Given the description of an element on the screen output the (x, y) to click on. 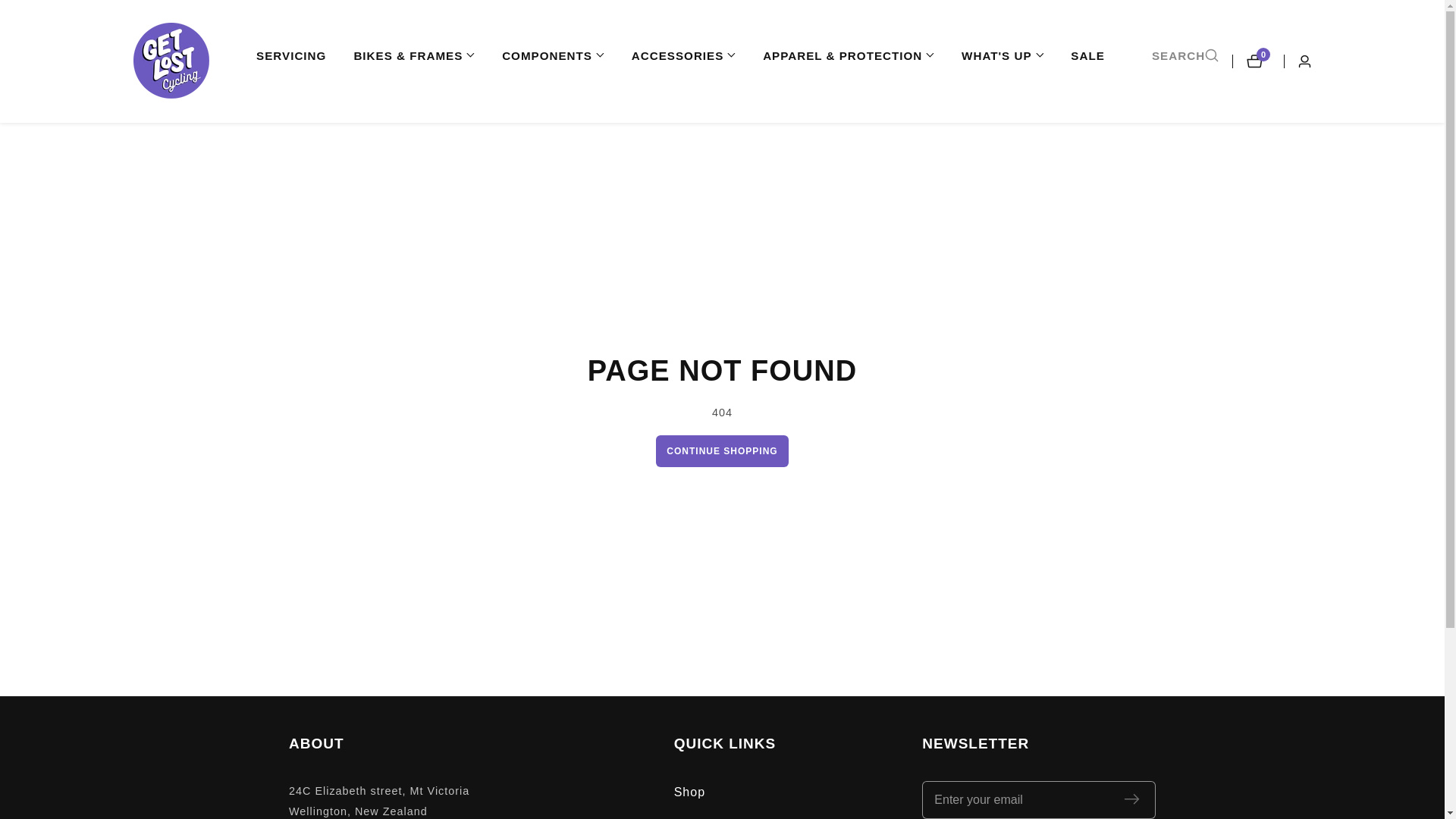
SERVICING (291, 55)
SKIP TO CONTENT (10, 7)
